Given the description of an element on the screen output the (x, y) to click on. 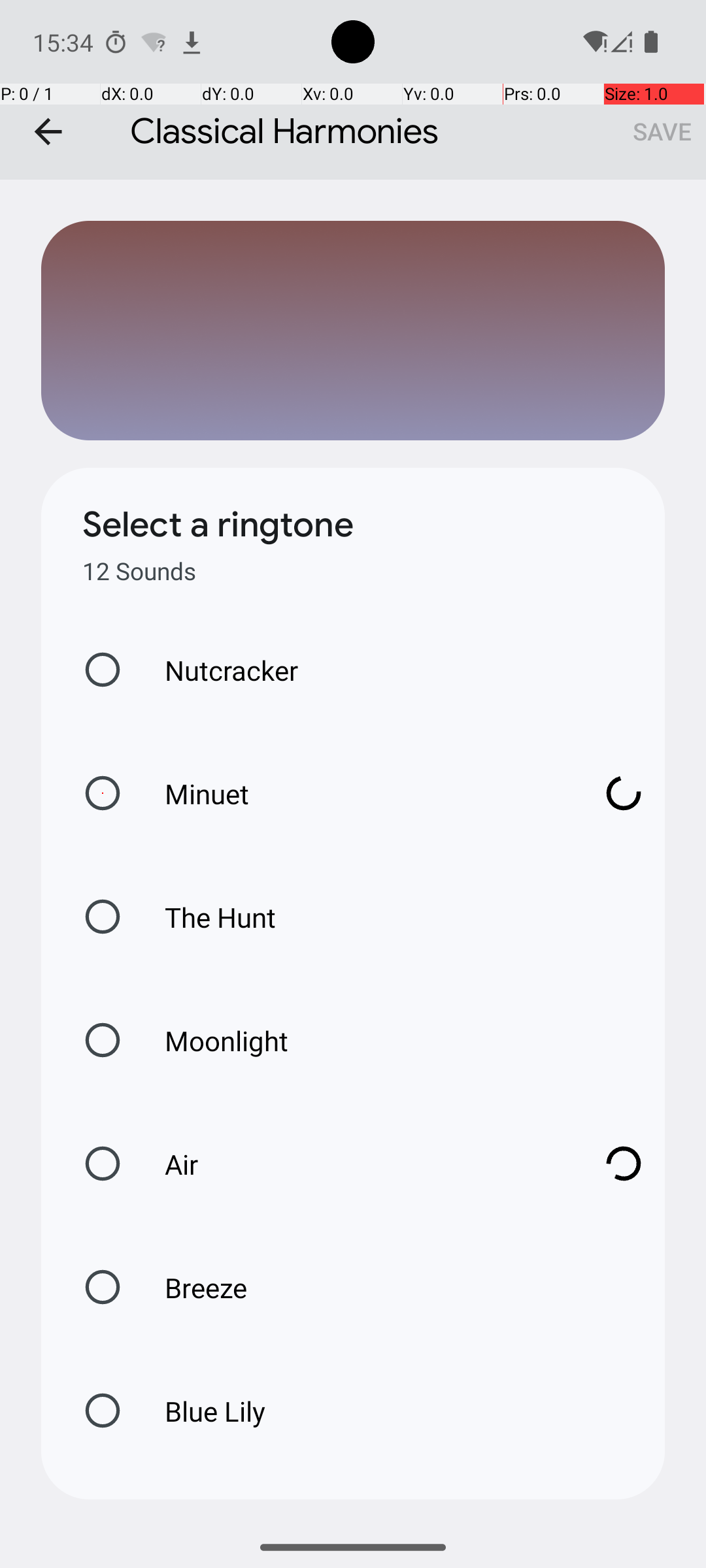
Nutcracker Element type: android.widget.TextView (217, 669)
Minuet Element type: android.widget.TextView (359, 793)
The Hunt Element type: android.widget.TextView (206, 916)
Moonlight Element type: android.widget.TextView (212, 1040)
Air Element type: android.widget.TextView (359, 1163)
Breeze Element type: android.widget.TextView (192, 1287)
Blue Lily Element type: android.widget.TextView (201, 1410)
No phone. Element type: android.widget.FrameLayout (621, 41)
